Given the description of an element on the screen output the (x, y) to click on. 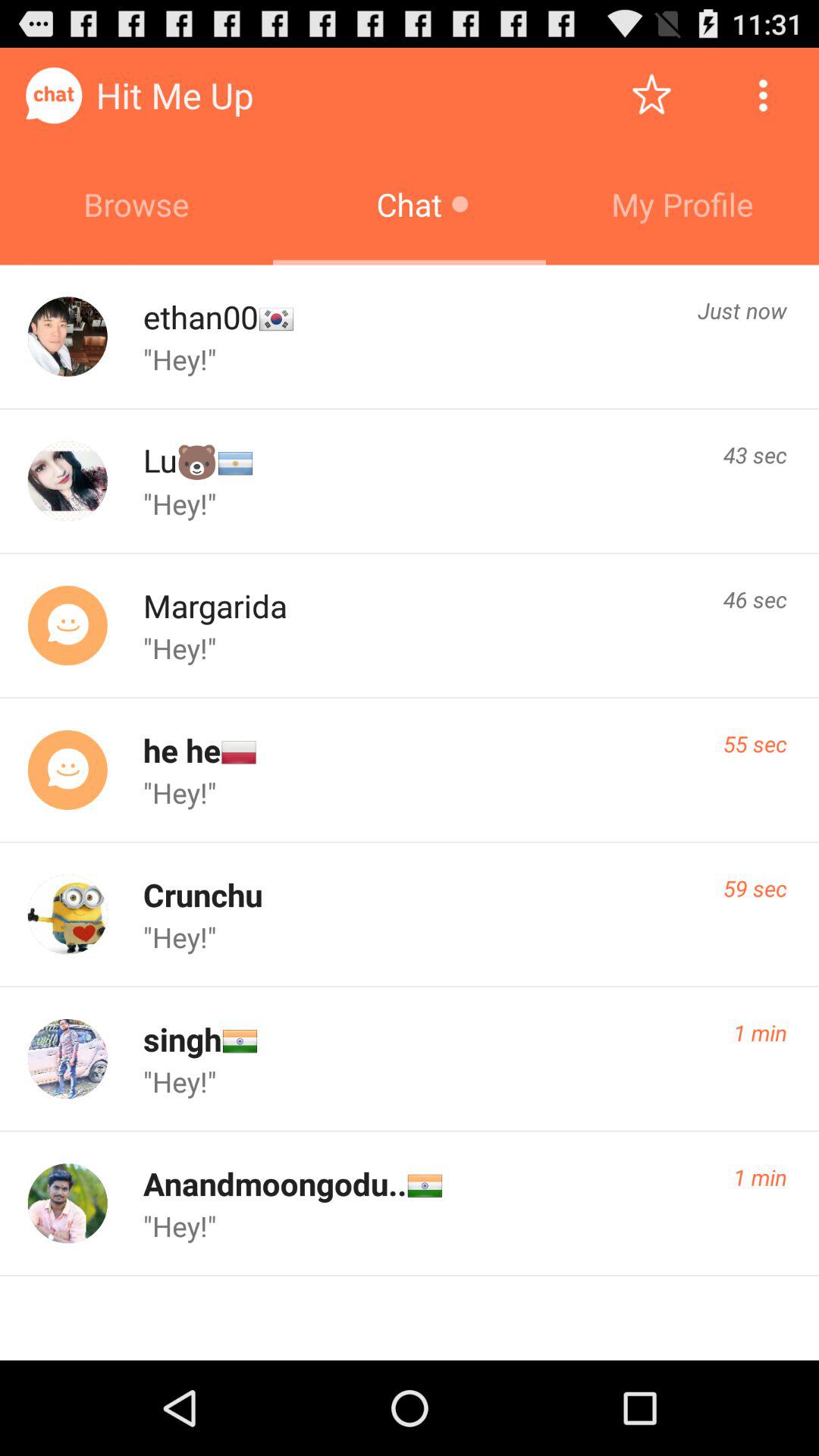
press icon above the "hey!" app (182, 1038)
